Given the description of an element on the screen output the (x, y) to click on. 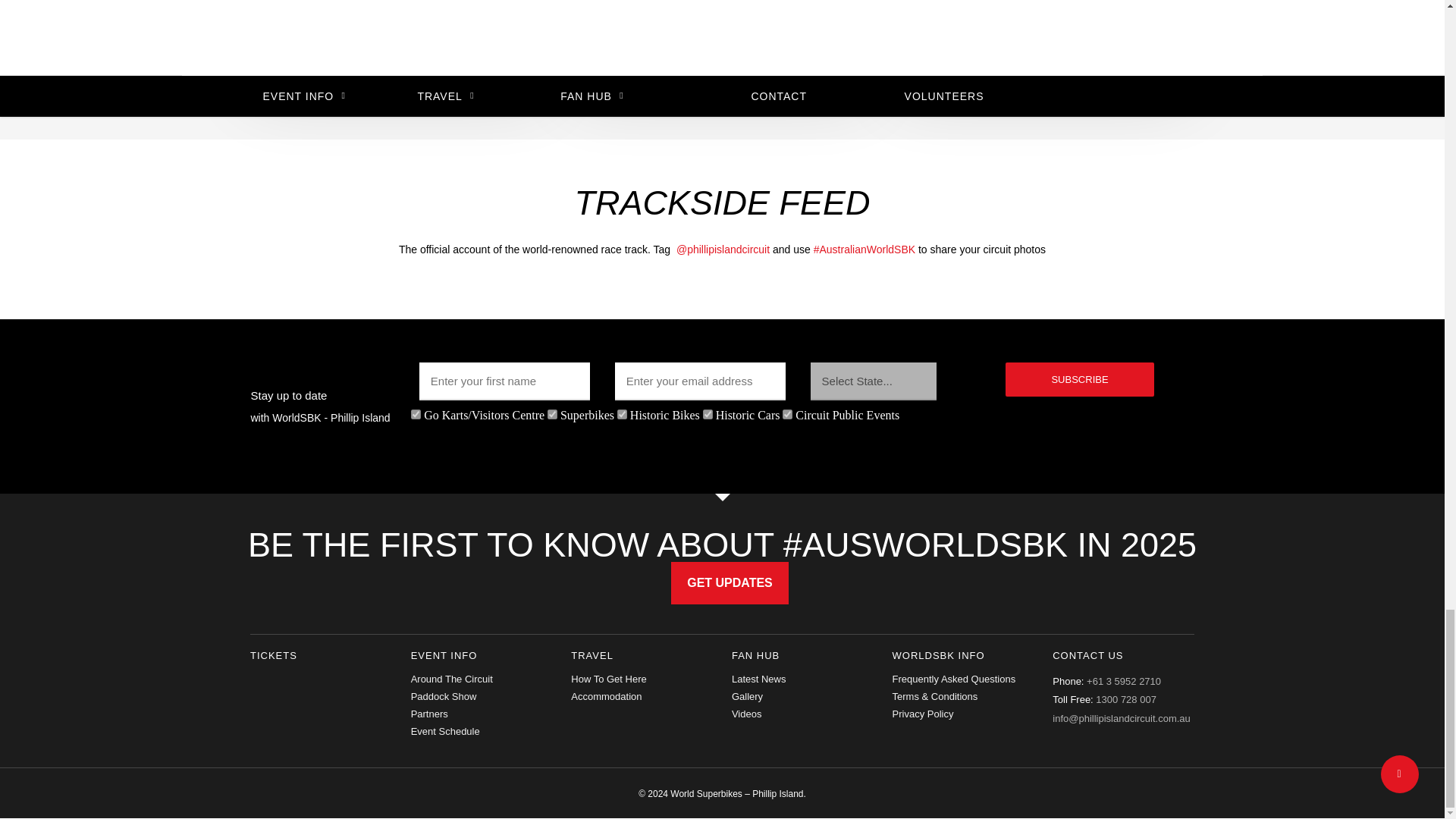
on (622, 414)
on (552, 414)
Remy Gardner finally cracks Podium Code in Assen! (1043, 35)
on (415, 414)
Remy Gardner fastest at Cremona Test! (720, 35)
Subscribe (1079, 379)
on (708, 414)
on (787, 414)
